Given the description of an element on the screen output the (x, y) to click on. 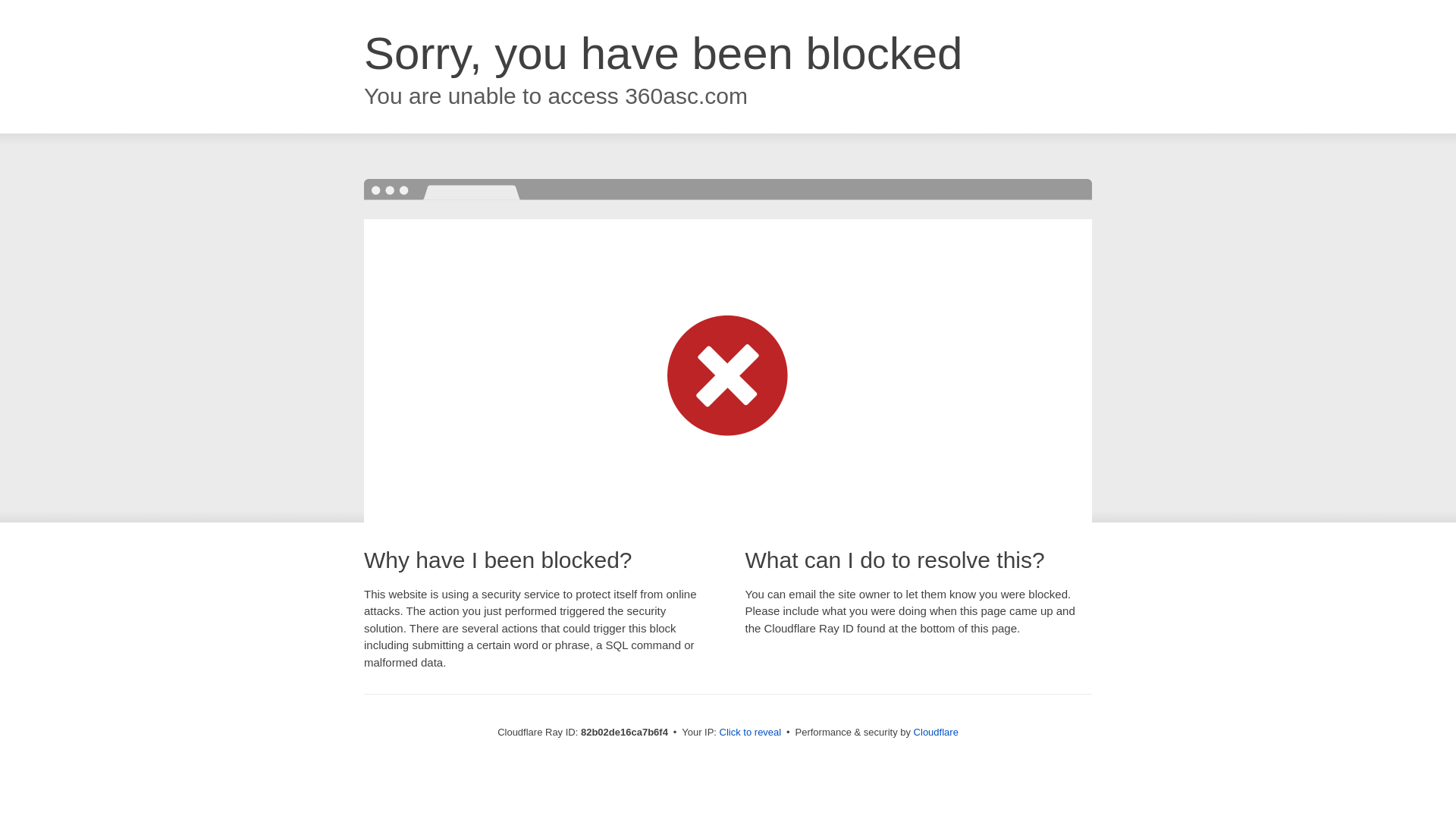
Cloudflare Element type: text (935, 731)
Click to reveal Element type: text (750, 732)
